Given the description of an element on the screen output the (x, y) to click on. 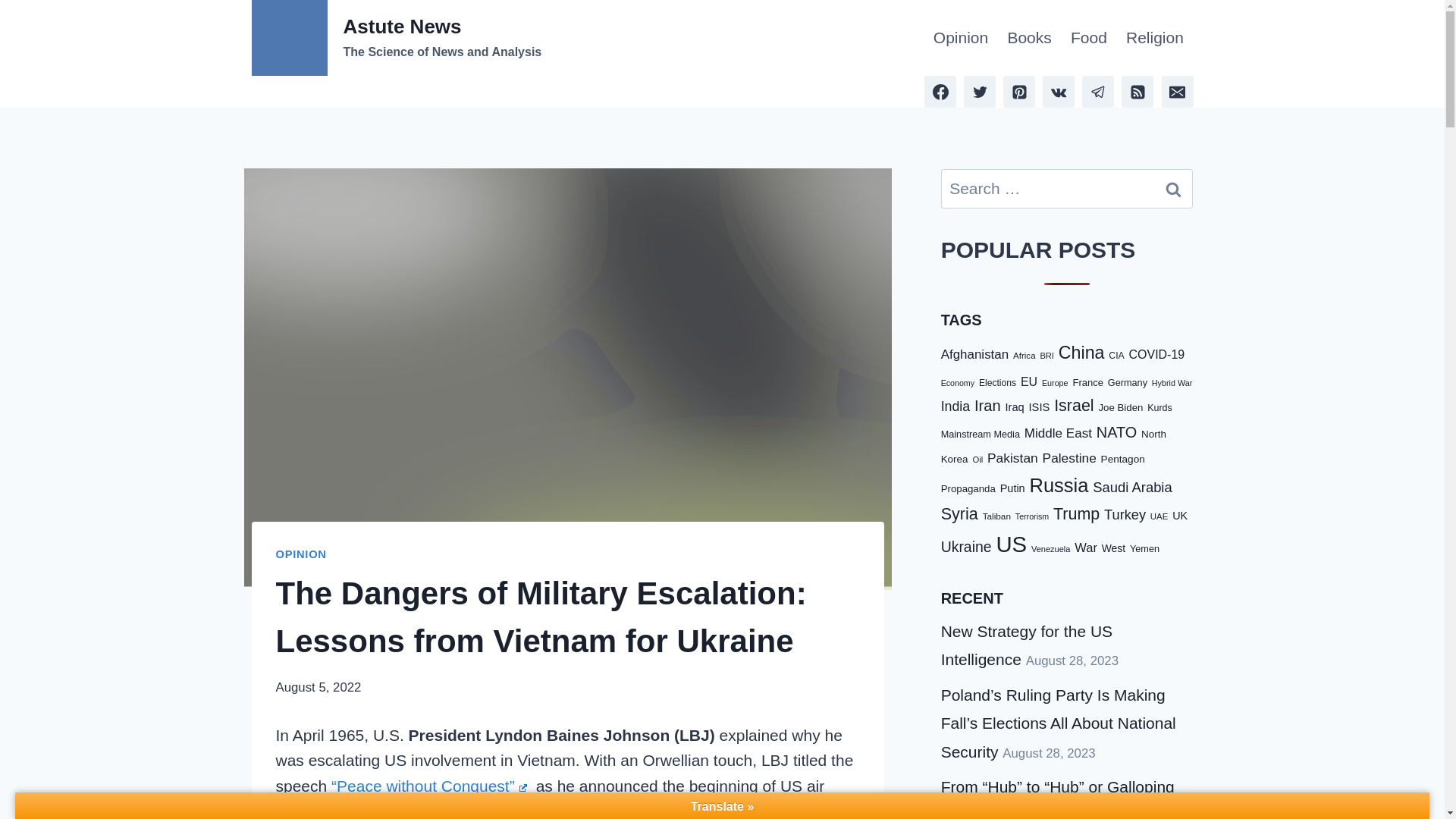
Search (1173, 188)
Books (1029, 37)
Opinion (960, 37)
Search (1173, 188)
Food (1088, 37)
Religion (1154, 37)
OPINION (301, 553)
